Given the description of an element on the screen output the (x, y) to click on. 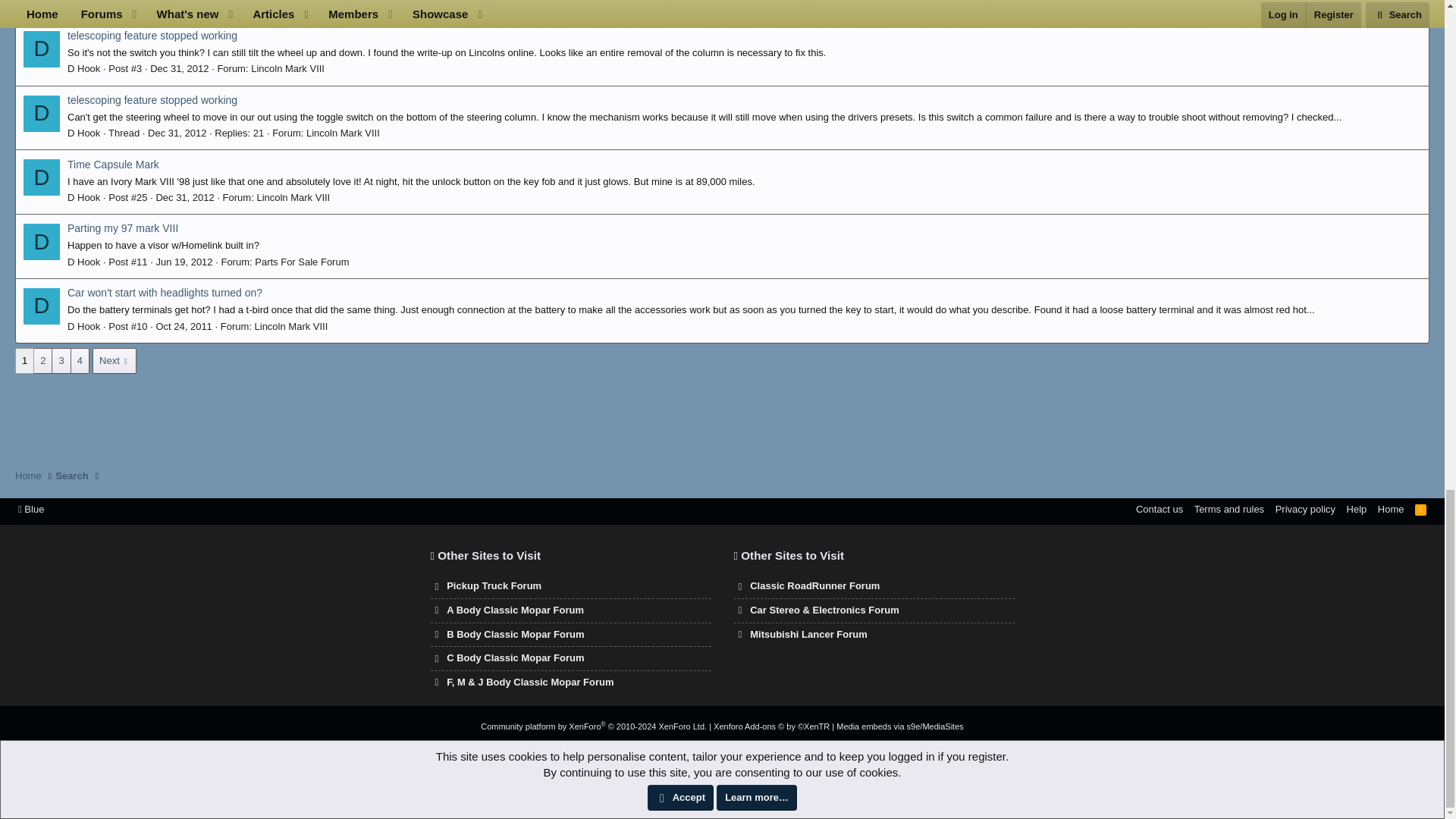
Jan 6, 2013 at 9:10 AM (175, 5)
Dec 31, 2012 at 1:56 PM (178, 68)
Dec 31, 2012 at 10:33 AM (184, 197)
Dec 31, 2012 at 10:50 AM (177, 132)
